Given the description of an element on the screen output the (x, y) to click on. 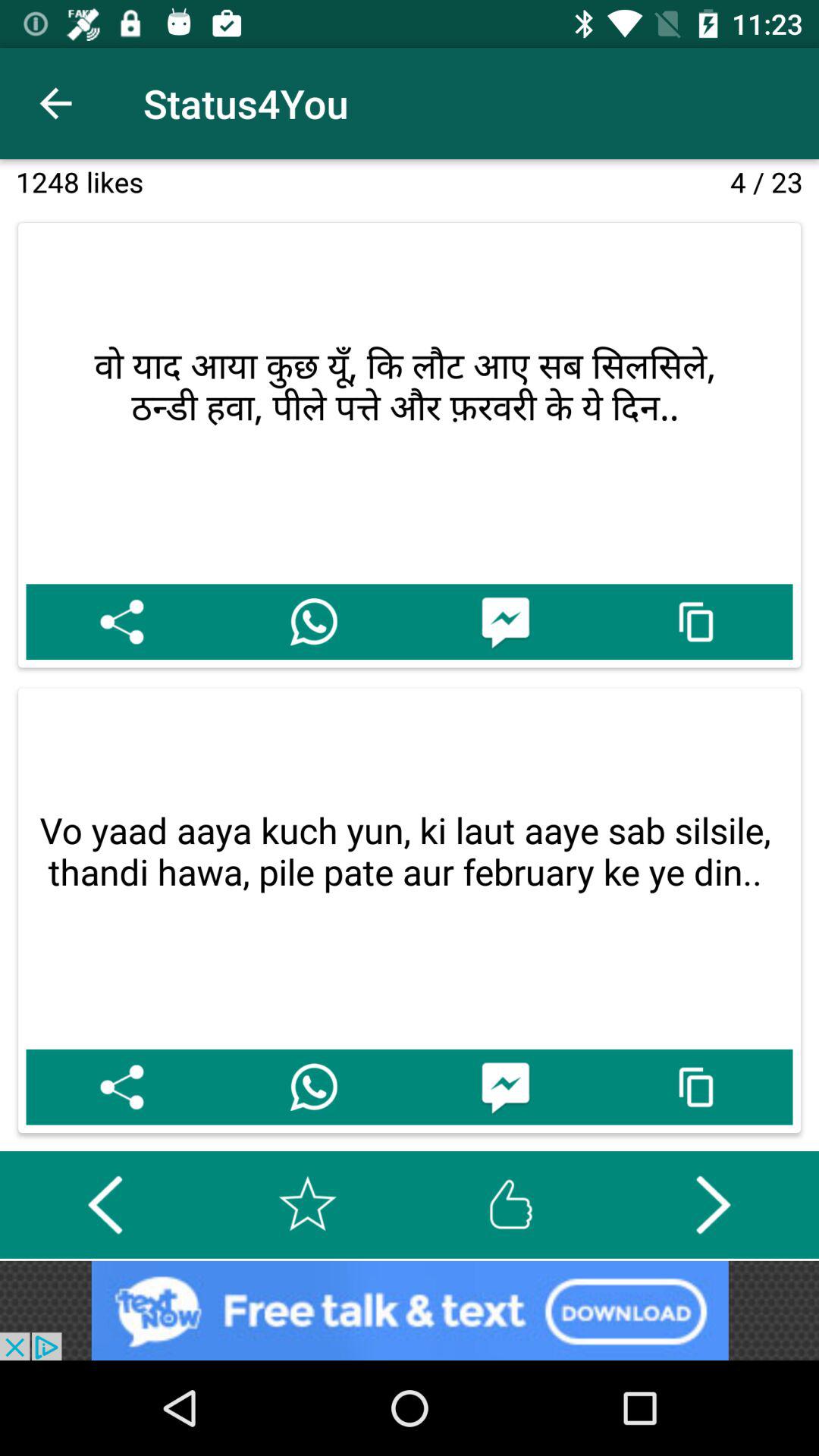
go back (104, 1204)
